Given the description of an element on the screen output the (x, y) to click on. 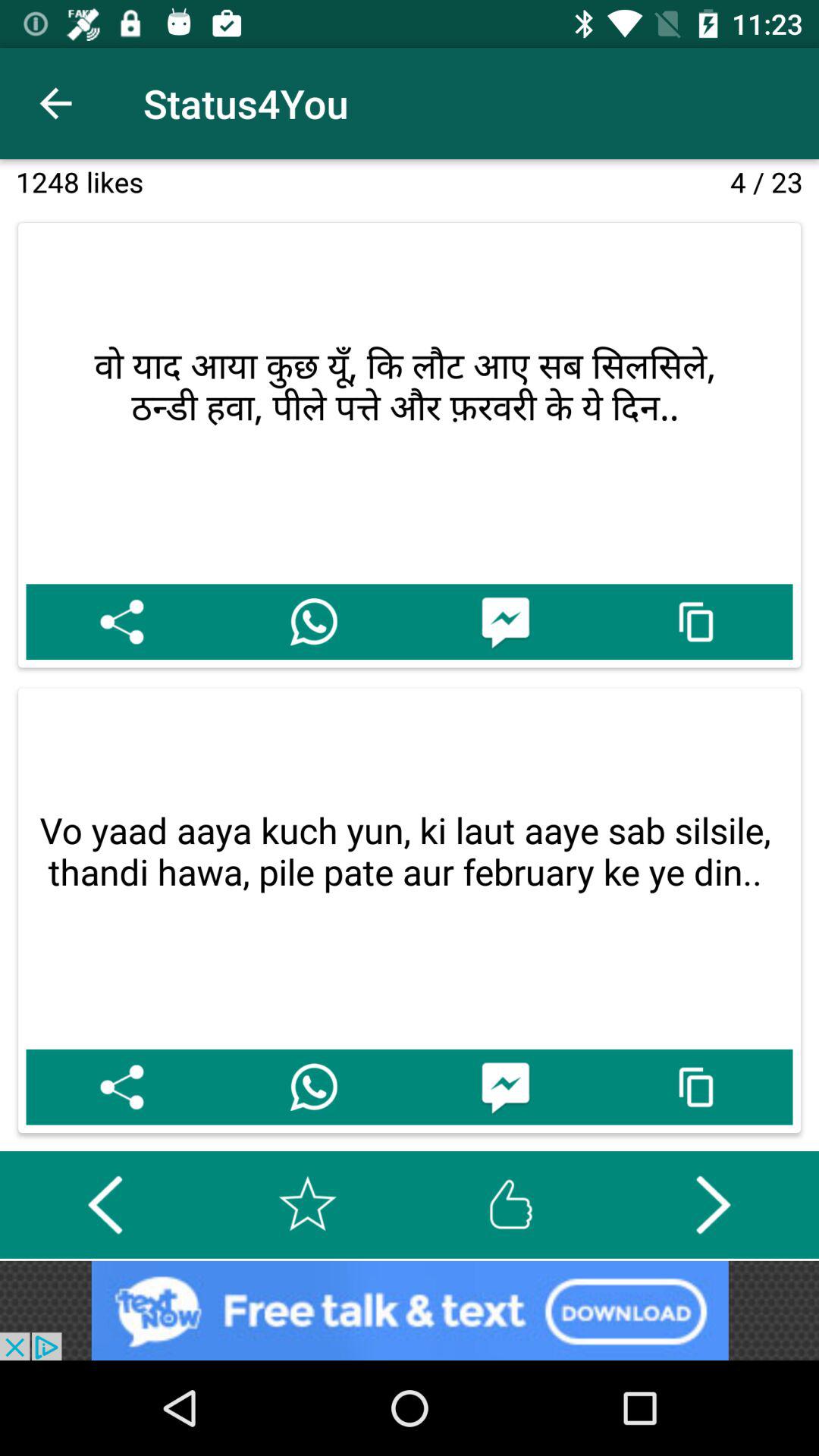
go back (104, 1204)
